Given the description of an element on the screen output the (x, y) to click on. 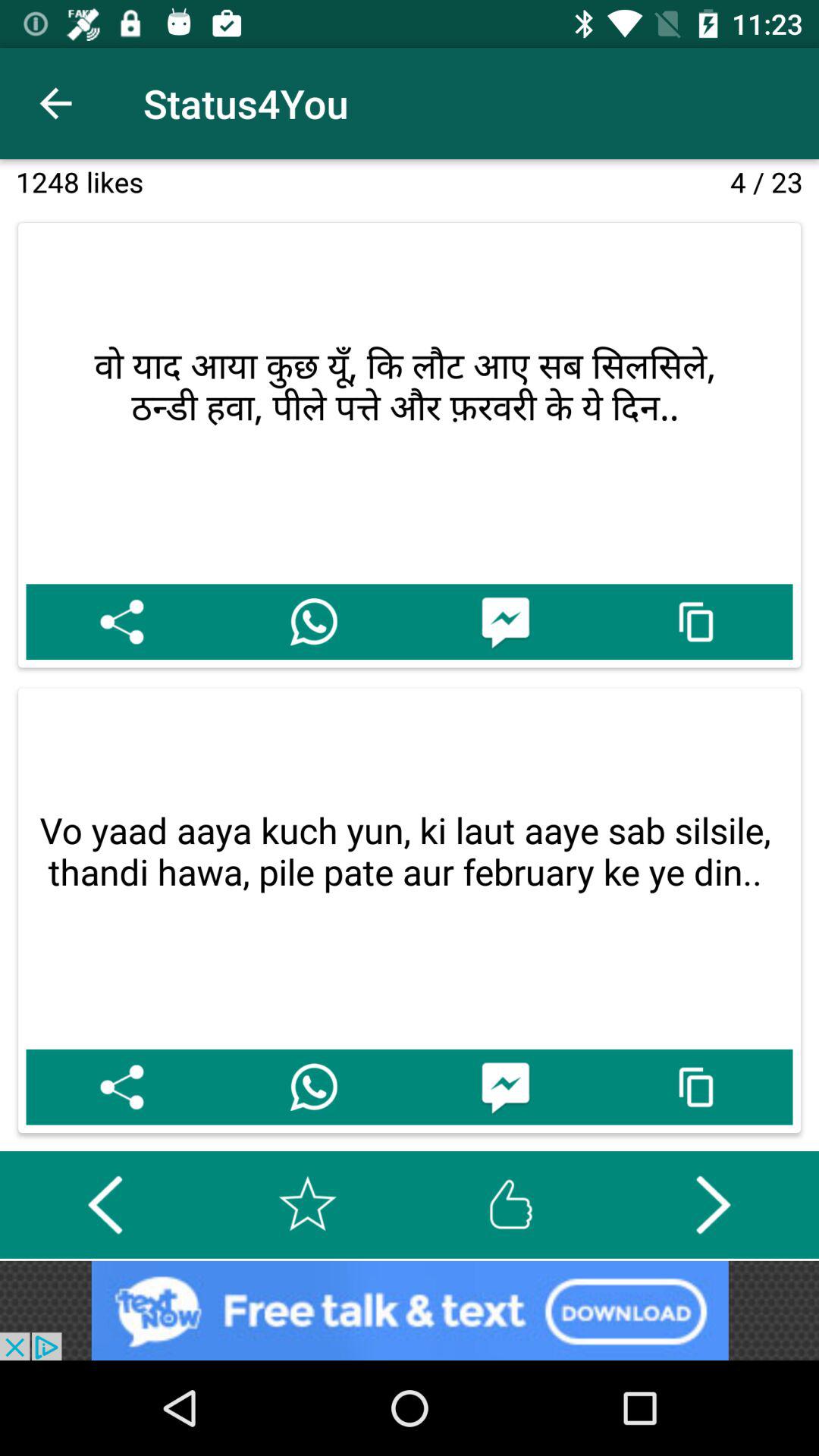
go back (104, 1204)
